Given the description of an element on the screen output the (x, y) to click on. 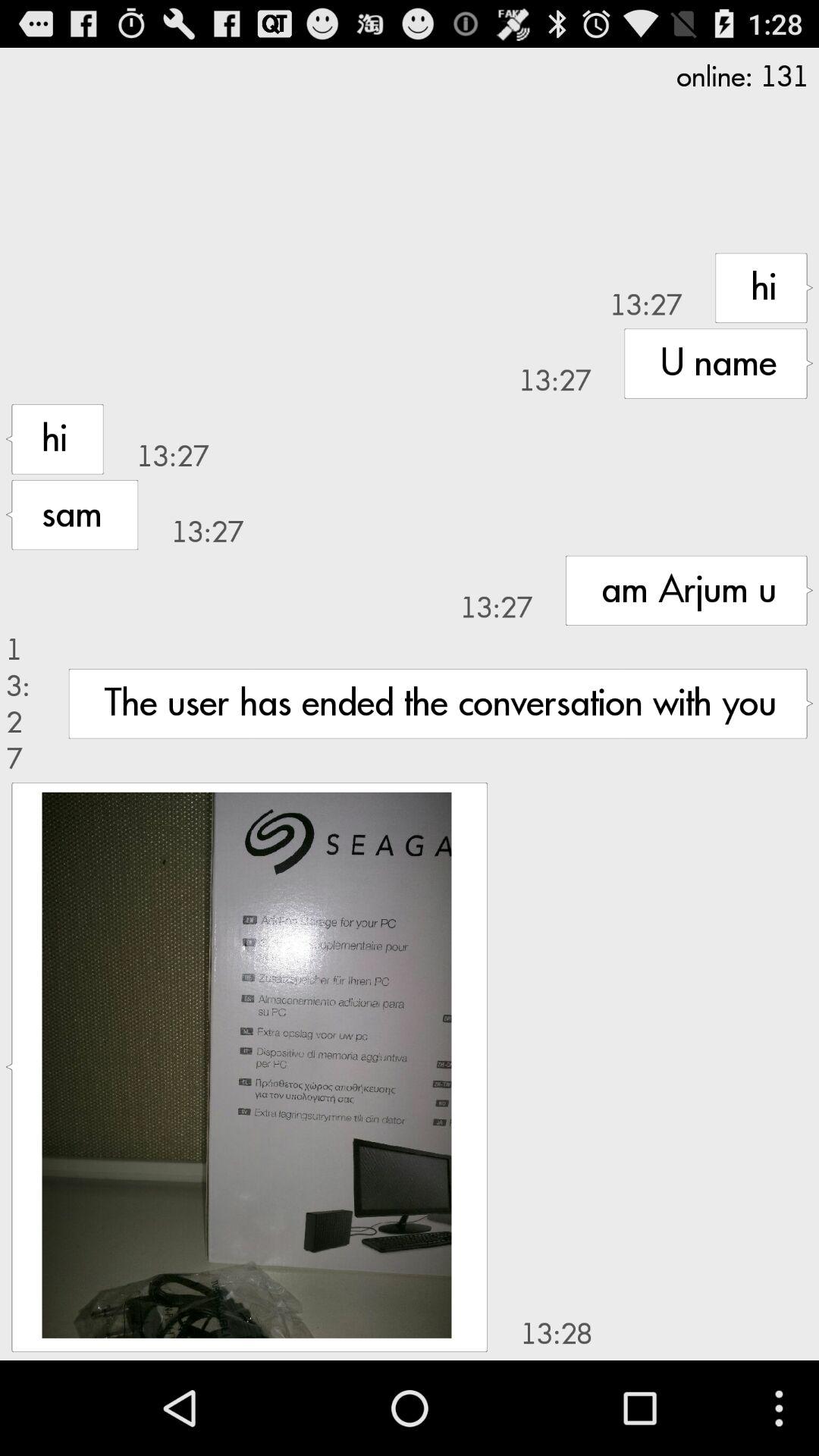
select image (246, 1065)
